Given the description of an element on the screen output the (x, y) to click on. 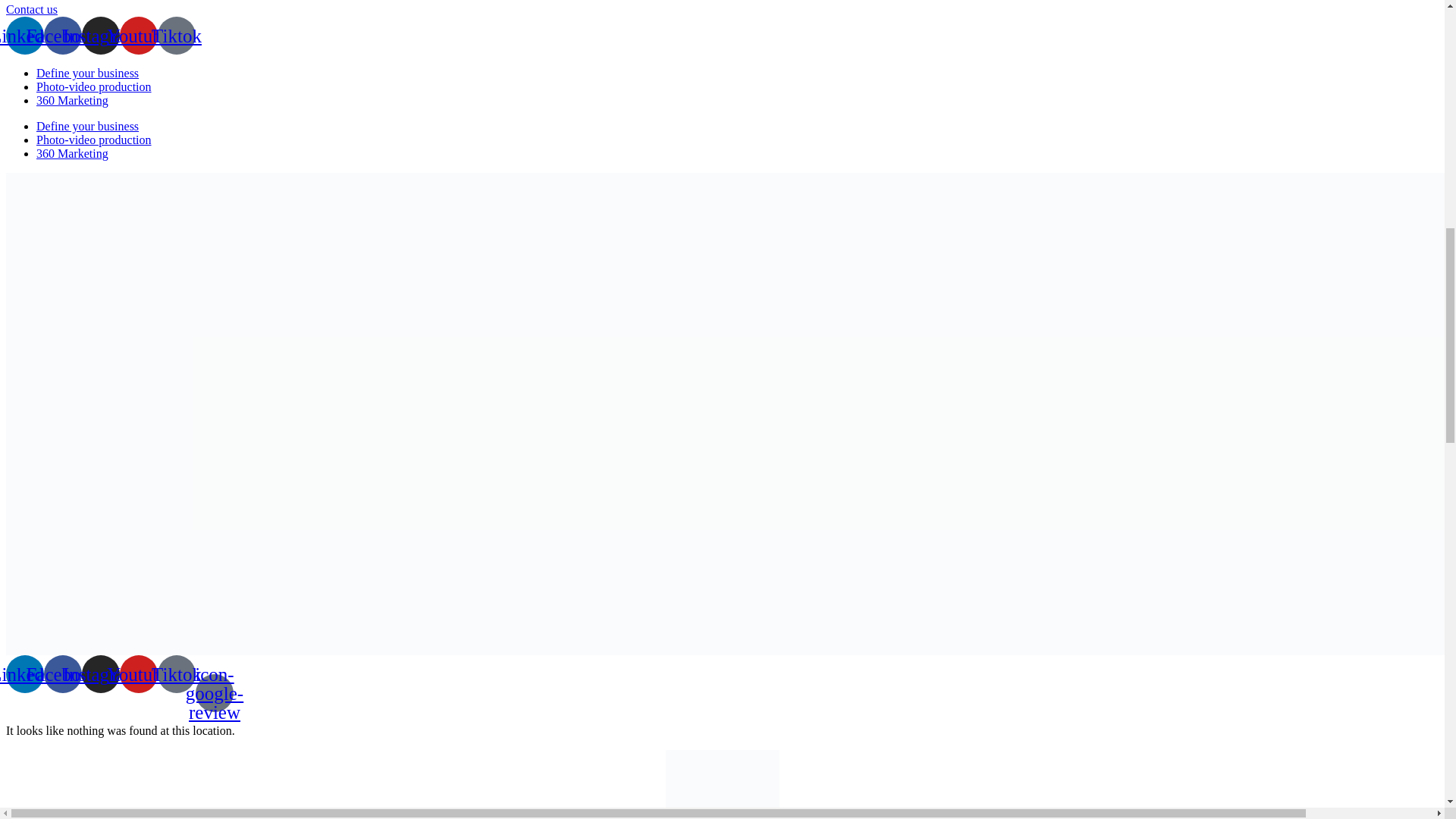
Photo-video production (93, 139)
Instagram (100, 673)
Youtube (138, 35)
icon-google-review (213, 692)
Facebook (62, 35)
Tiktok (176, 673)
Define your business (87, 72)
Contact us (31, 9)
Define your business (87, 125)
Youtube (138, 673)
